Given the description of an element on the screen output the (x, y) to click on. 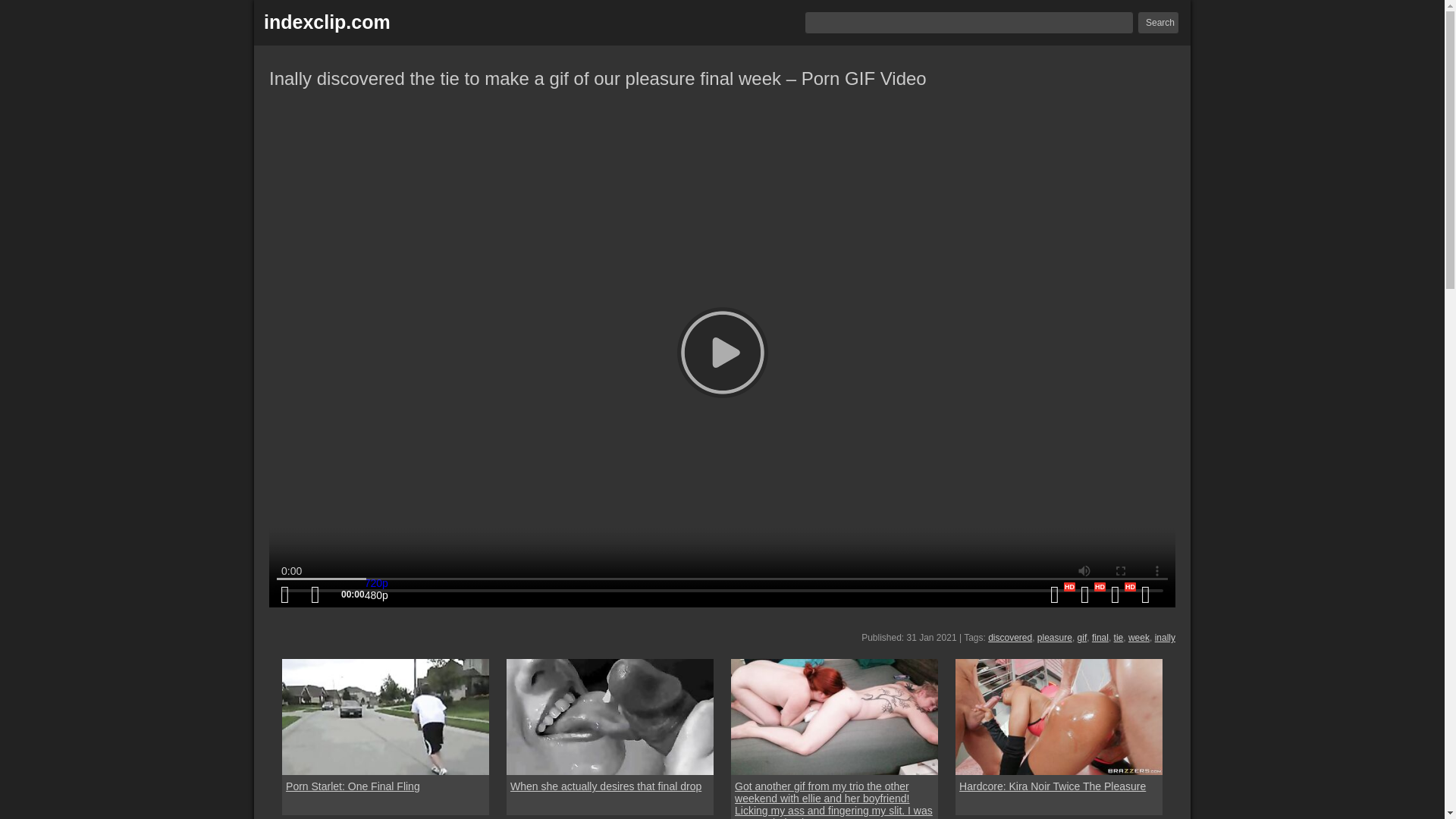
final (1100, 637)
gif (1082, 637)
Hardcore: Kira Noir Twice The Pleasure (1052, 786)
discovered (1010, 637)
Search (1158, 22)
Hardcore: Kira Noir Twice The Pleasure (1052, 786)
Porn Starlet: One Final Fling (352, 786)
When she actually desires that final drop (609, 716)
Hardcore: Kira Noir Twice The Pleasure (1058, 716)
When she actually desires that final drop (606, 786)
pleasure (1053, 637)
inally (1164, 637)
When she actually desires that final drop (606, 786)
